Given the description of an element on the screen output the (x, y) to click on. 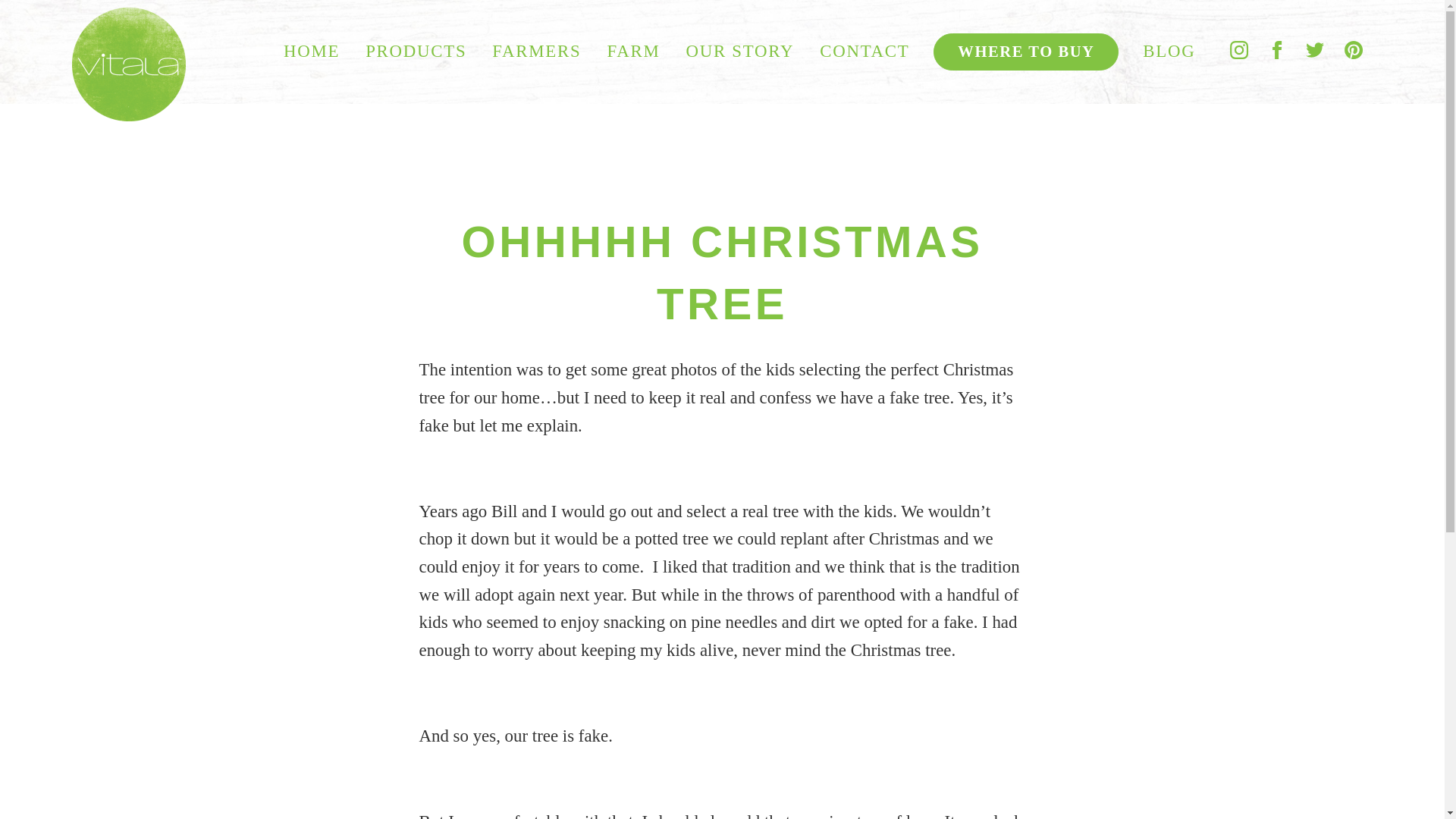
FARMERS (536, 51)
WHERE TO BUY (1025, 52)
HOME (311, 51)
PRODUCTS (415, 51)
OUR STORY (739, 51)
CONTACT (863, 51)
FARM (633, 51)
BLOG (1168, 51)
